Given the description of an element on the screen output the (x, y) to click on. 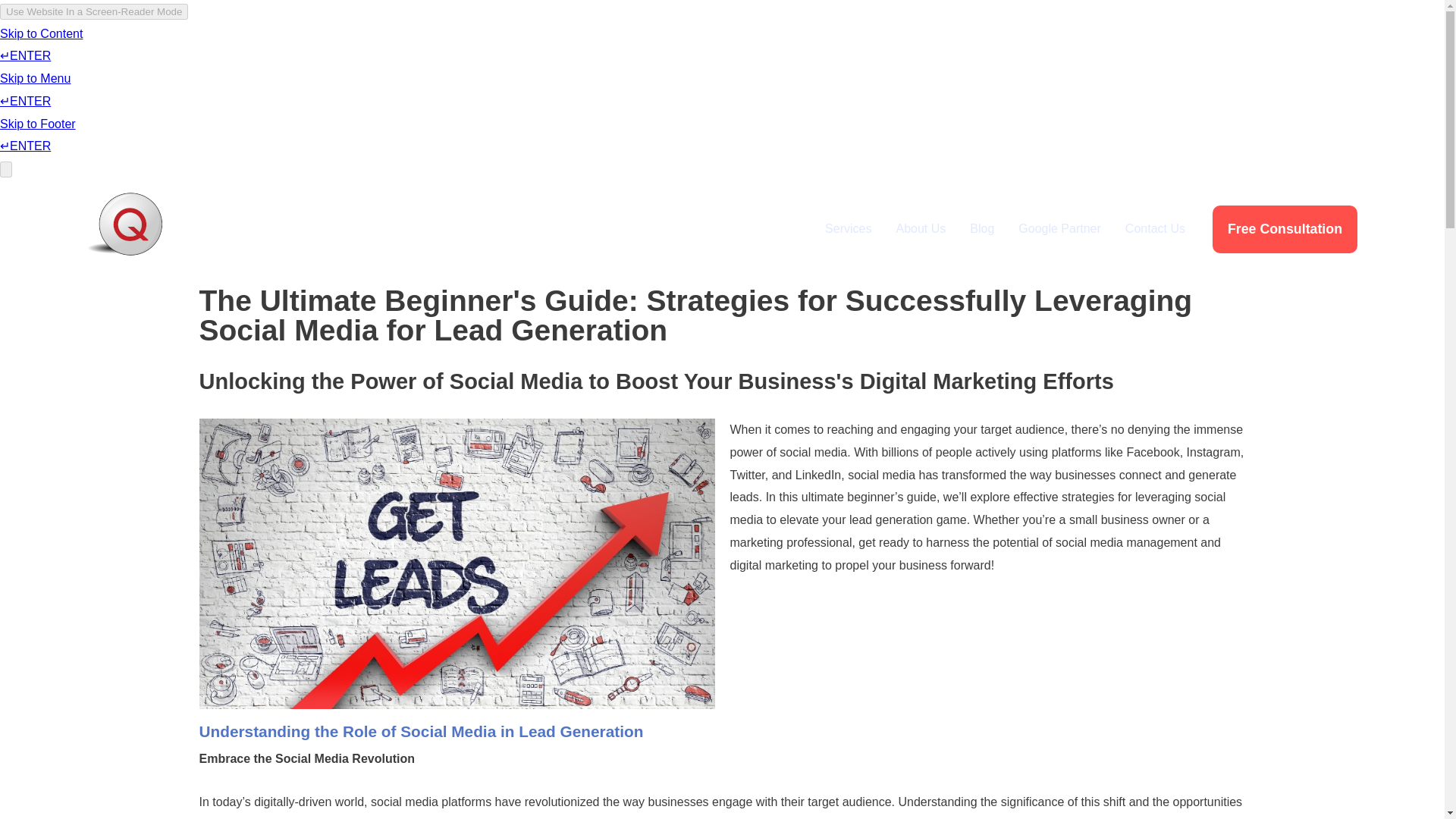
Free Consultation (1284, 229)
Blog (982, 228)
Services (847, 228)
Contact Us (1154, 228)
Google Partner (1059, 228)
About Us (920, 228)
